Given the description of an element on the screen output the (x, y) to click on. 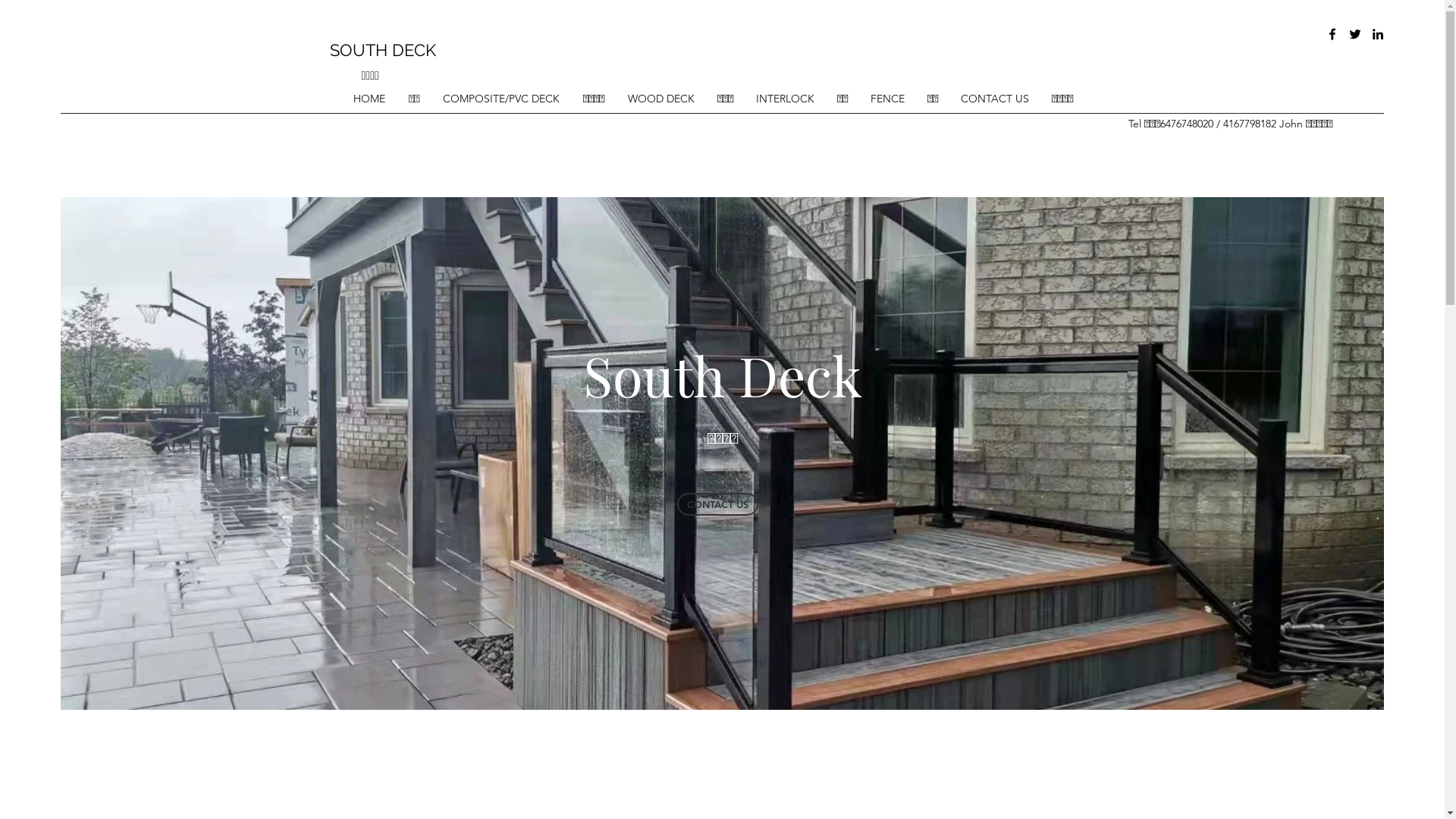
FENCE Element type: text (890, 98)
CONTACT US Element type: text (716, 503)
INTERLOCK Element type: text (787, 98)
WOOD DECK Element type: text (664, 98)
CONTACT US Element type: text (997, 98)
COMPOSITE/PVC DECK Element type: text (505, 98)
HOME Element type: text (373, 98)
SOUTH DECK Element type: text (382, 49)
